Given the description of an element on the screen output the (x, y) to click on. 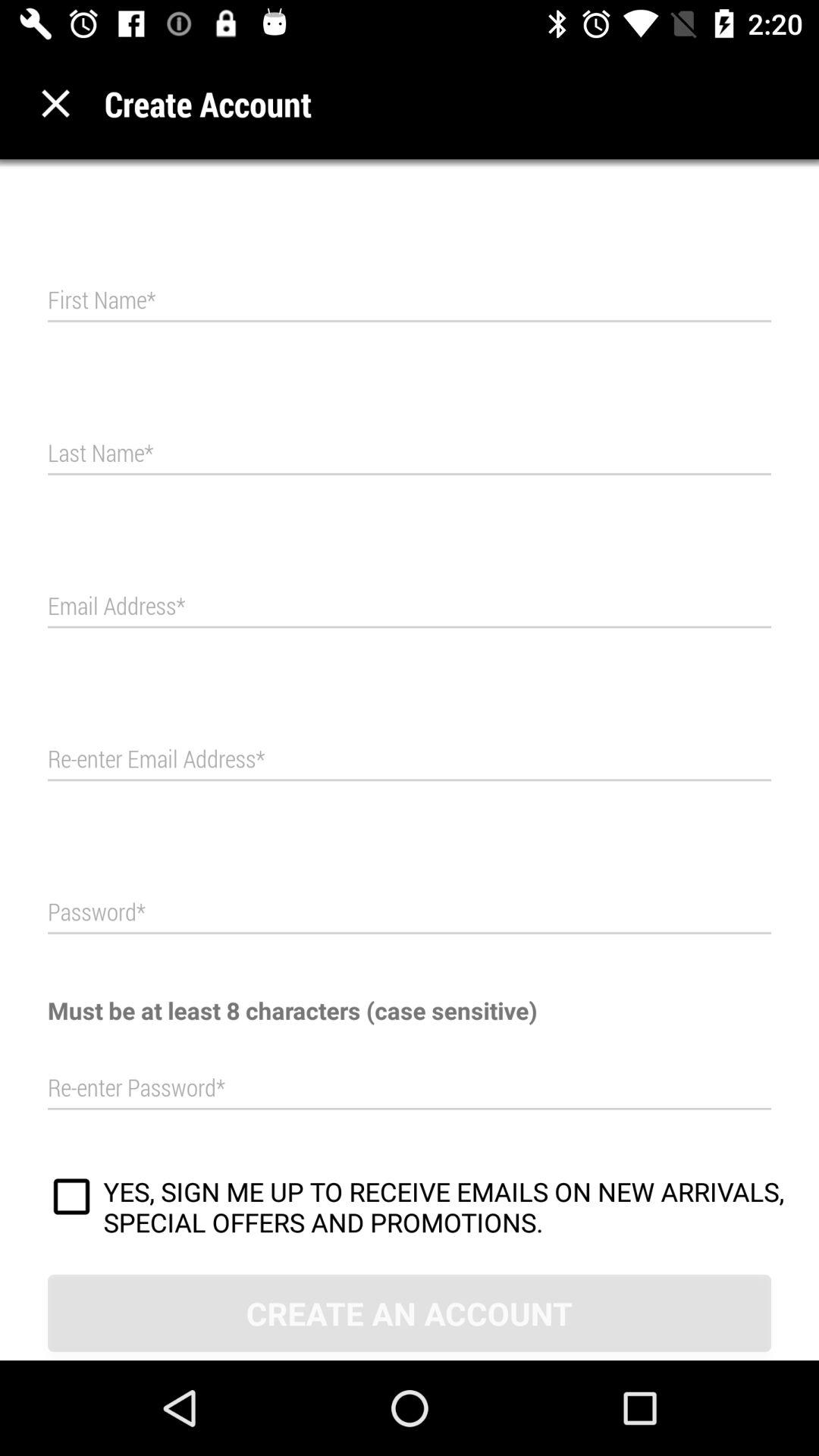
enter name input (409, 453)
